Given the description of an element on the screen output the (x, y) to click on. 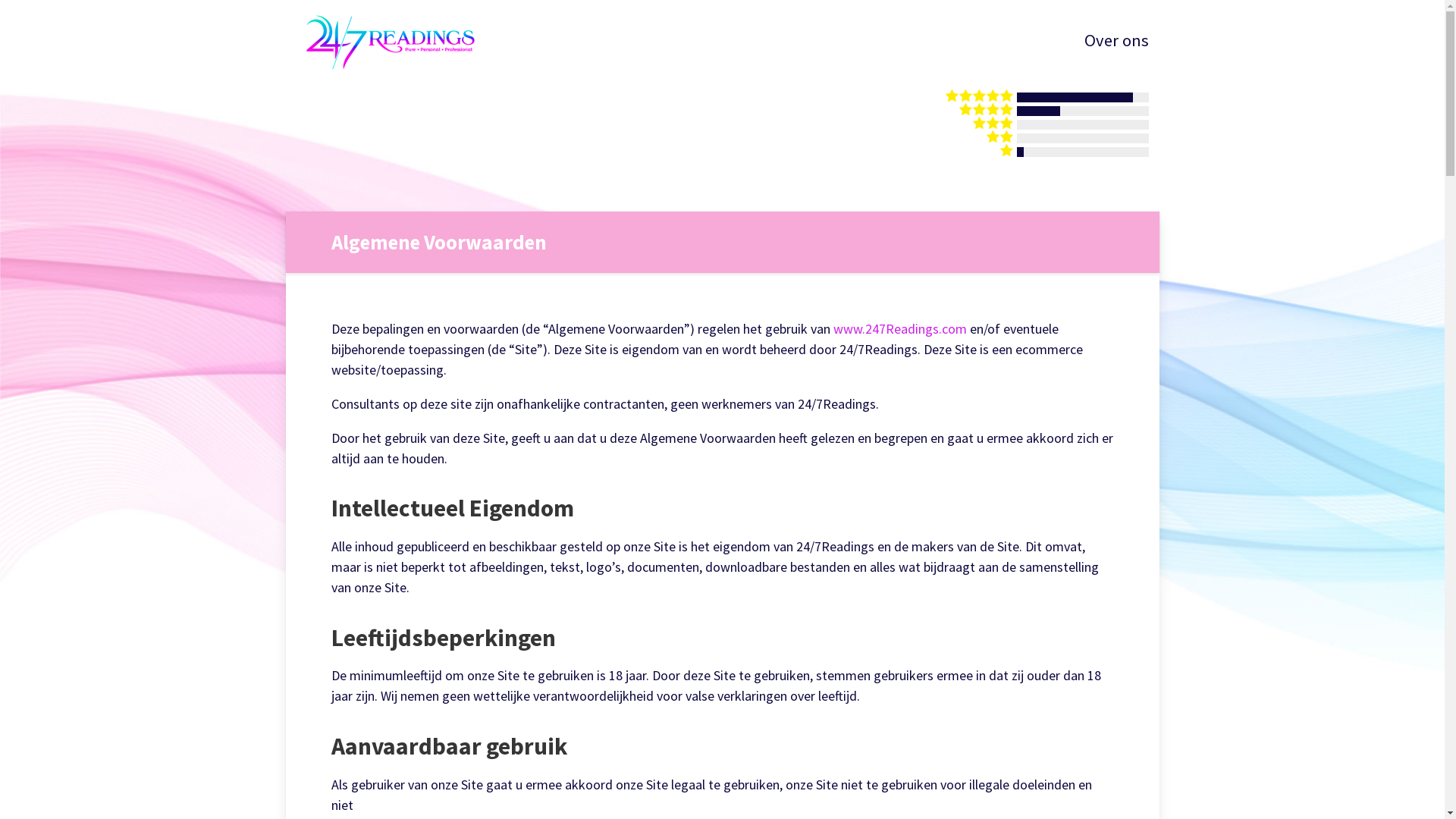
Over ons Element type: text (1115, 40)
www.247Readings.com Element type: text (899, 328)
